Given the description of an element on the screen output the (x, y) to click on. 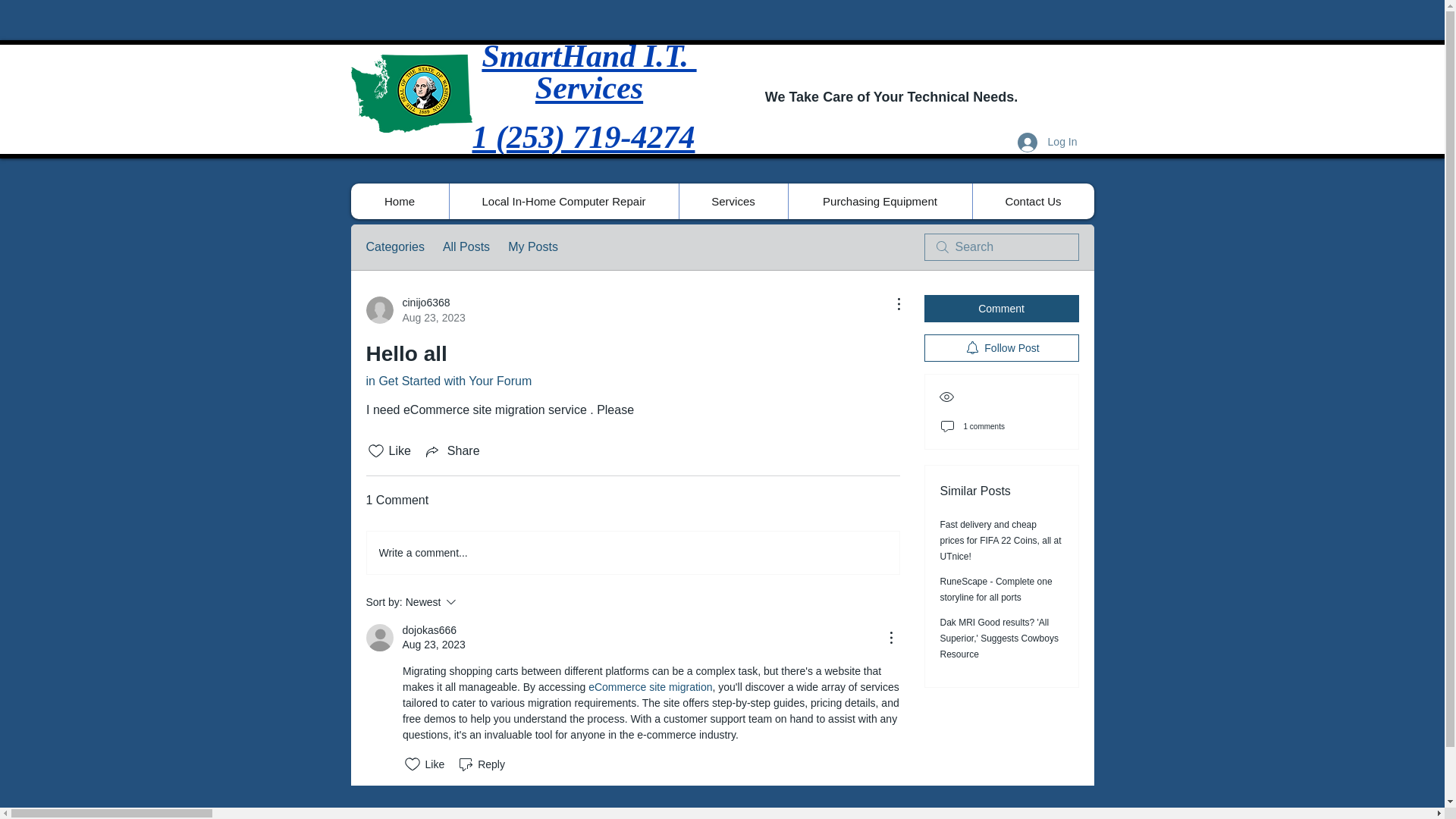
Categories (394, 247)
Log In (414, 309)
Services (1047, 141)
SmartHand I.T.  (732, 201)
Contact Us (588, 55)
My Posts (1033, 201)
Purchasing Equipment (532, 247)
in Get Started with Your Forum (879, 201)
dojokas666 (448, 380)
